Given the description of an element on the screen output the (x, y) to click on. 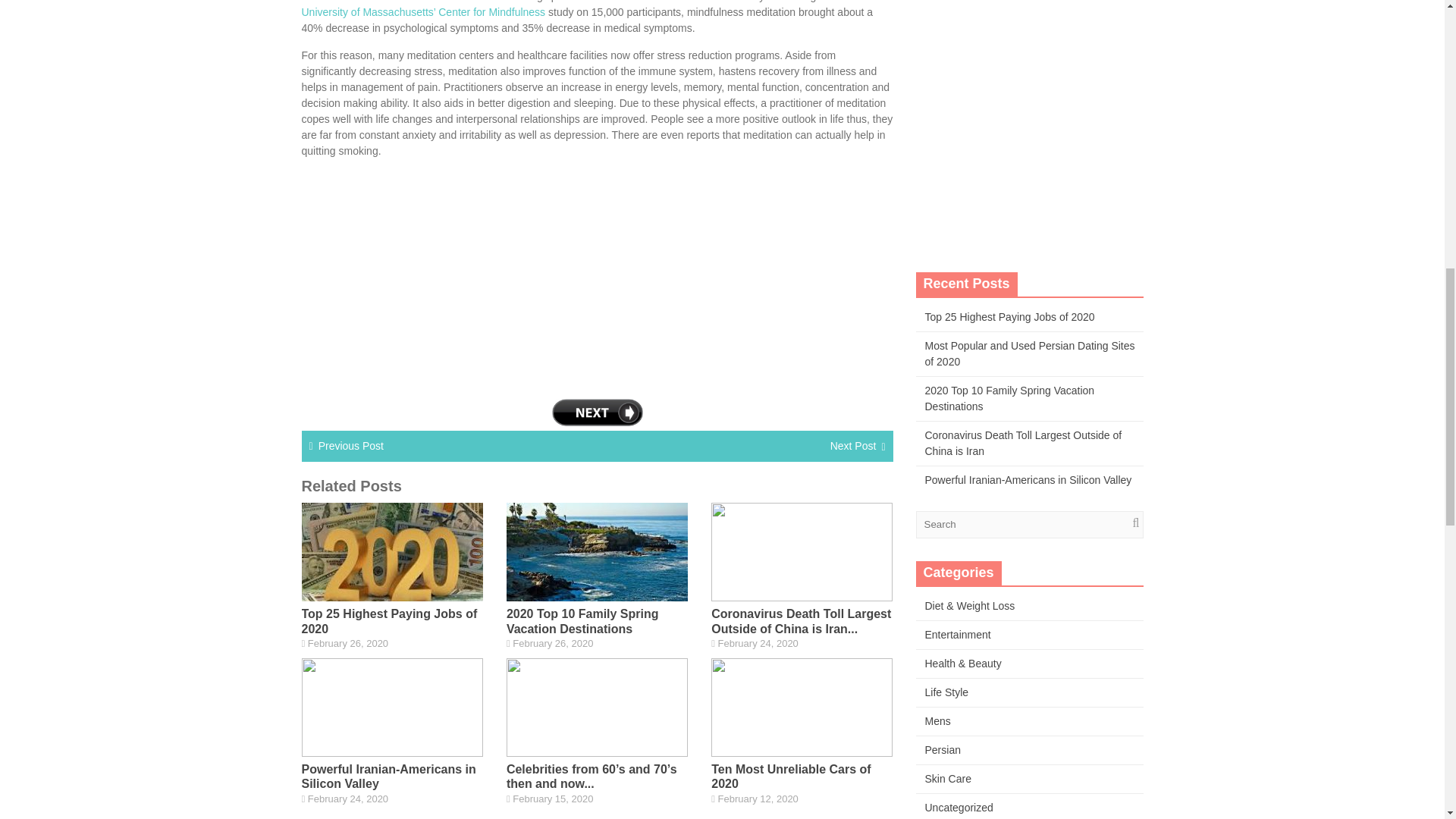
Ten Most Unreliable Cars of 2020 (790, 776)
Previous Post (351, 445)
Coronavirus Death Toll Largest Outside of China is Iran... (801, 620)
Top 25 Highest Paying Jobs of 2020 (389, 620)
2020 Top 10 Family Spring Vacation Destinations (582, 620)
Powerful Iranian-Americans in Silicon Valley (388, 776)
Next Post (852, 445)
Top 25 Highest Paying Jobs of 2020 (1009, 316)
